Given the description of an element on the screen output the (x, y) to click on. 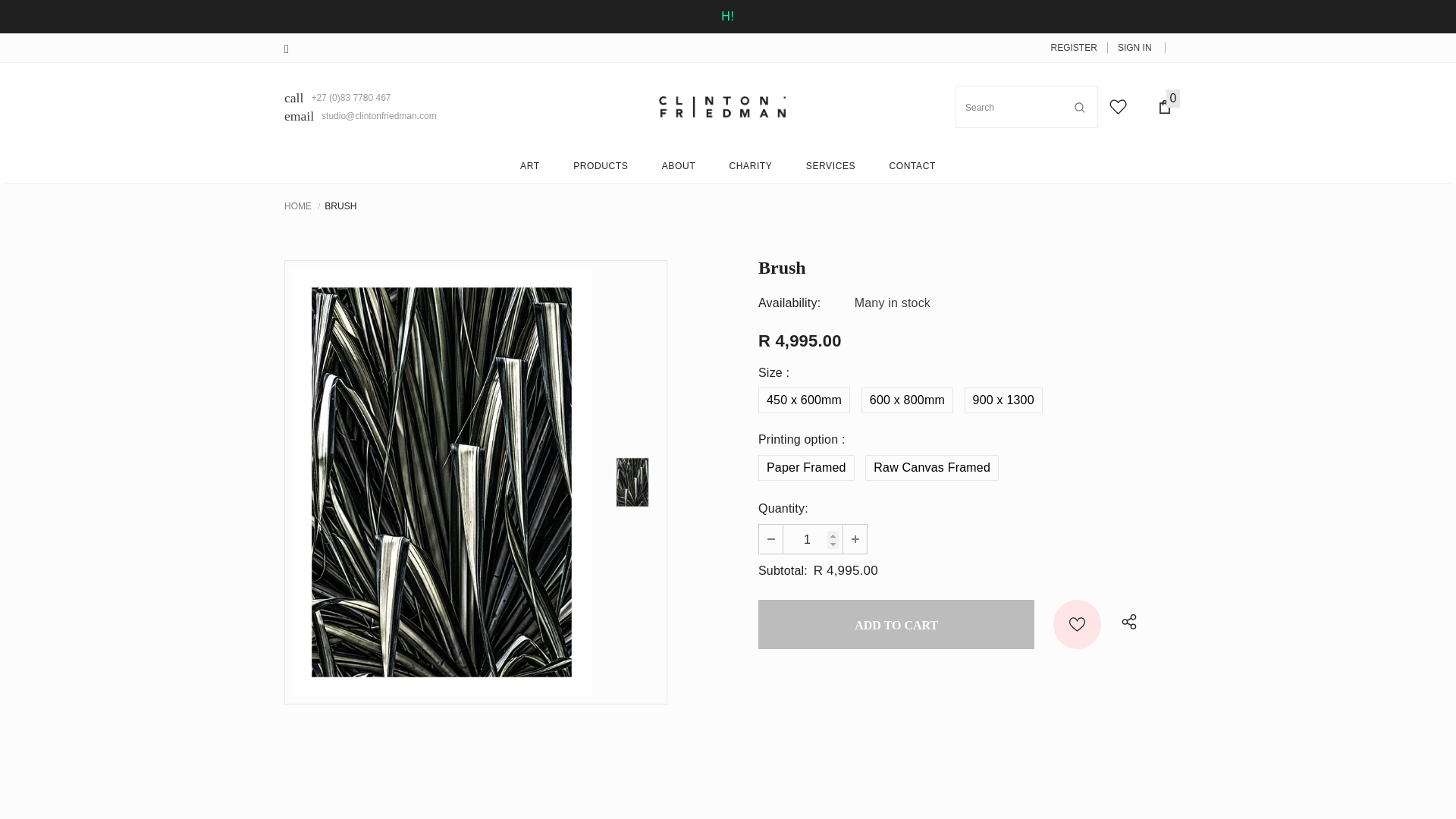
REGISTER (1074, 47)
Add to cart (895, 624)
SIGN IN (1128, 47)
Instagram (292, 49)
Logo (722, 106)
1 (813, 538)
